Given the description of an element on the screen output the (x, y) to click on. 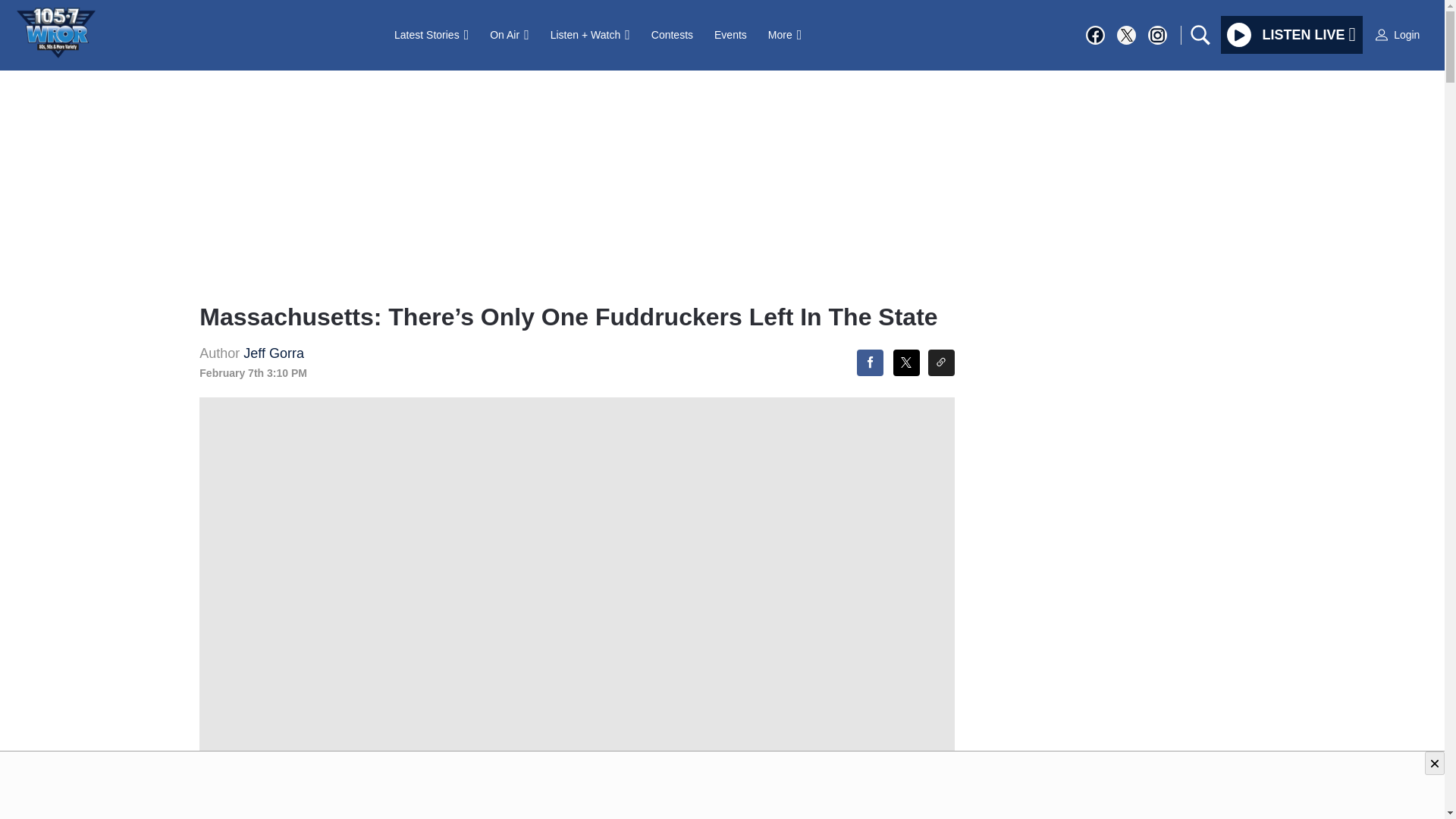
Jeff Gorra (273, 353)
Contests (671, 34)
On Air (508, 34)
Close AdCheckmark indicating ad close (1434, 763)
Events (730, 34)
Latest Stories (431, 34)
More (784, 34)
